Given the description of an element on the screen output the (x, y) to click on. 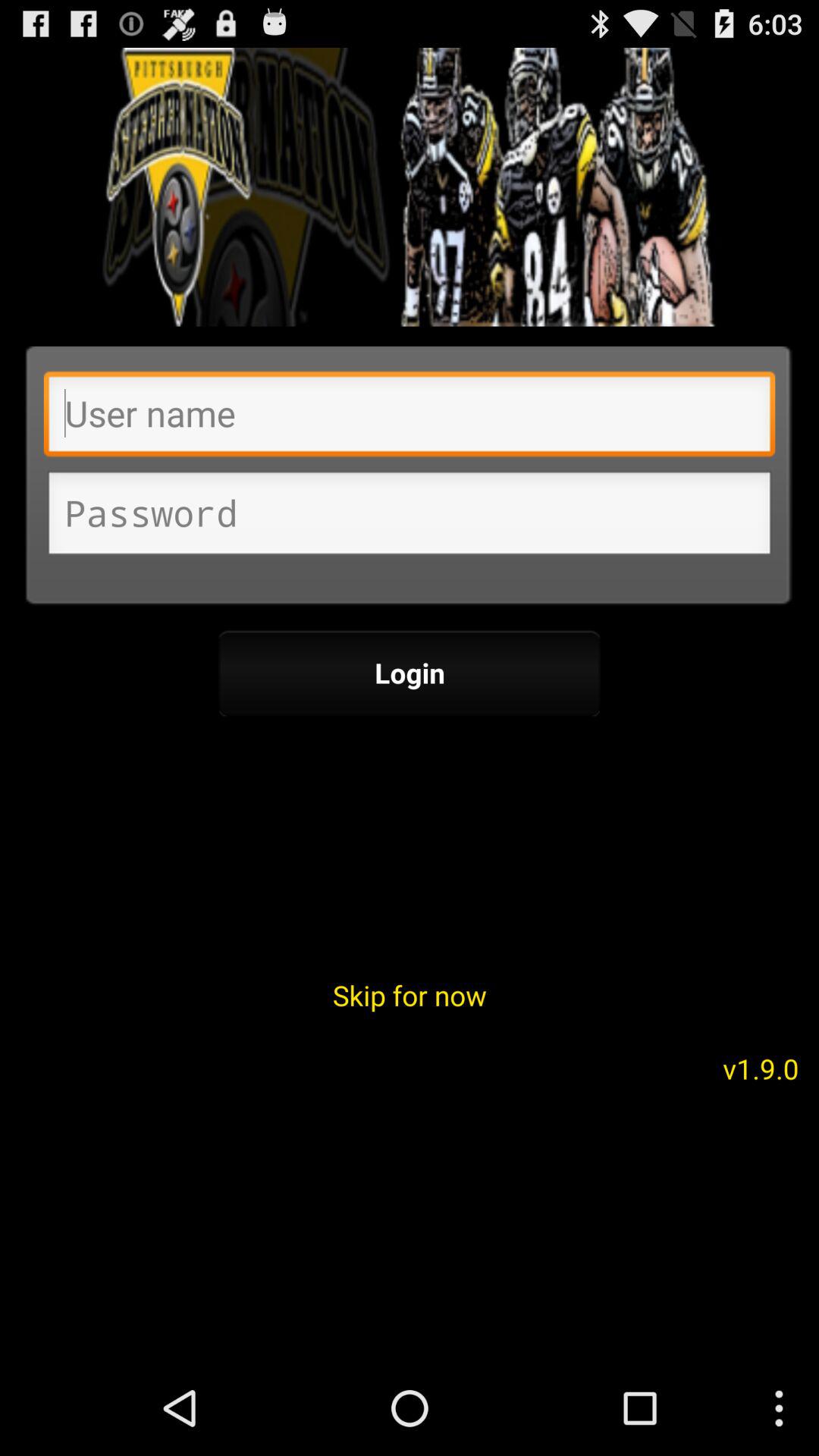
enter user name (409, 417)
